Given the description of an element on the screen output the (x, y) to click on. 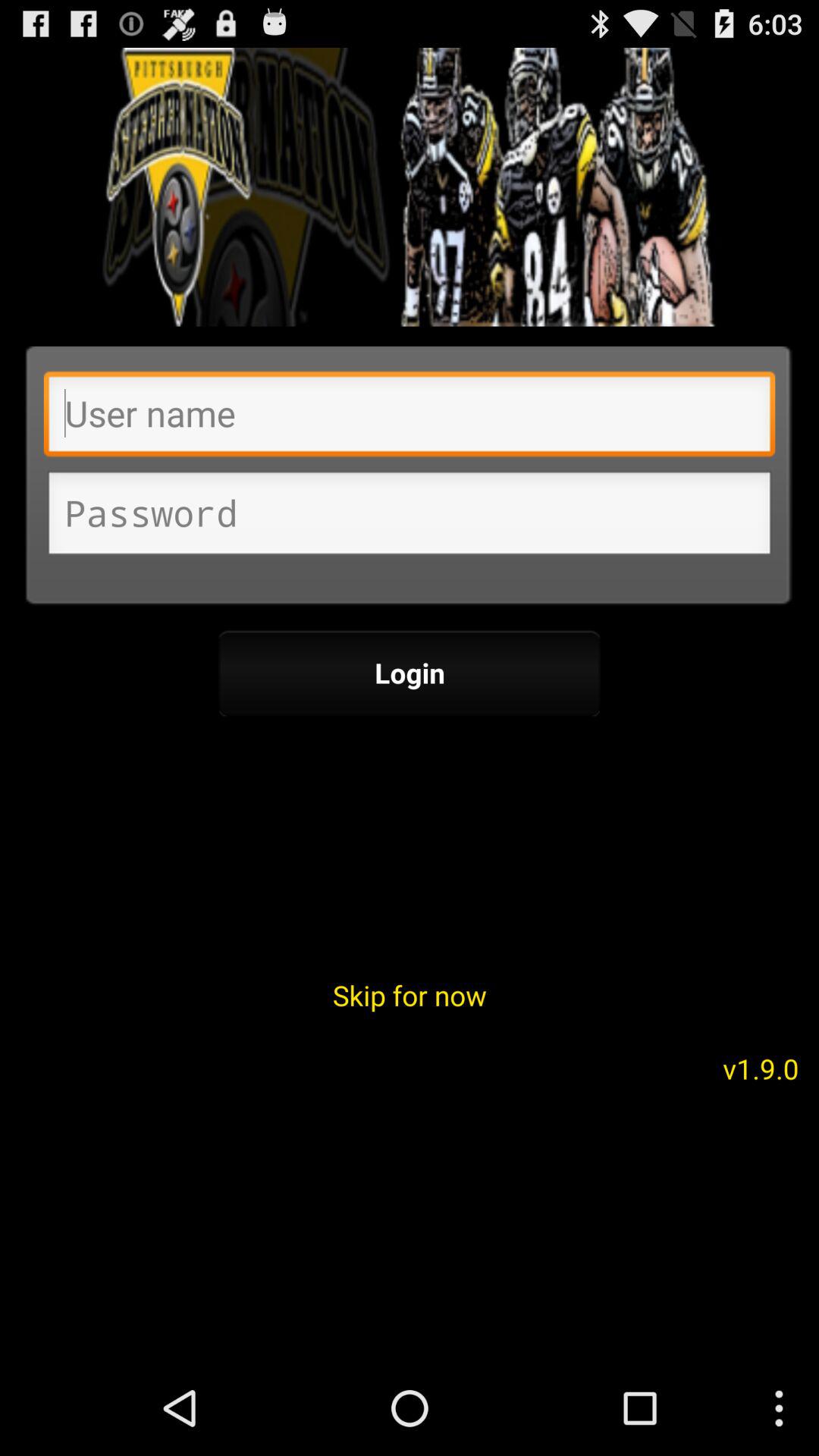
enter user name (409, 417)
